Given the description of an element on the screen output the (x, y) to click on. 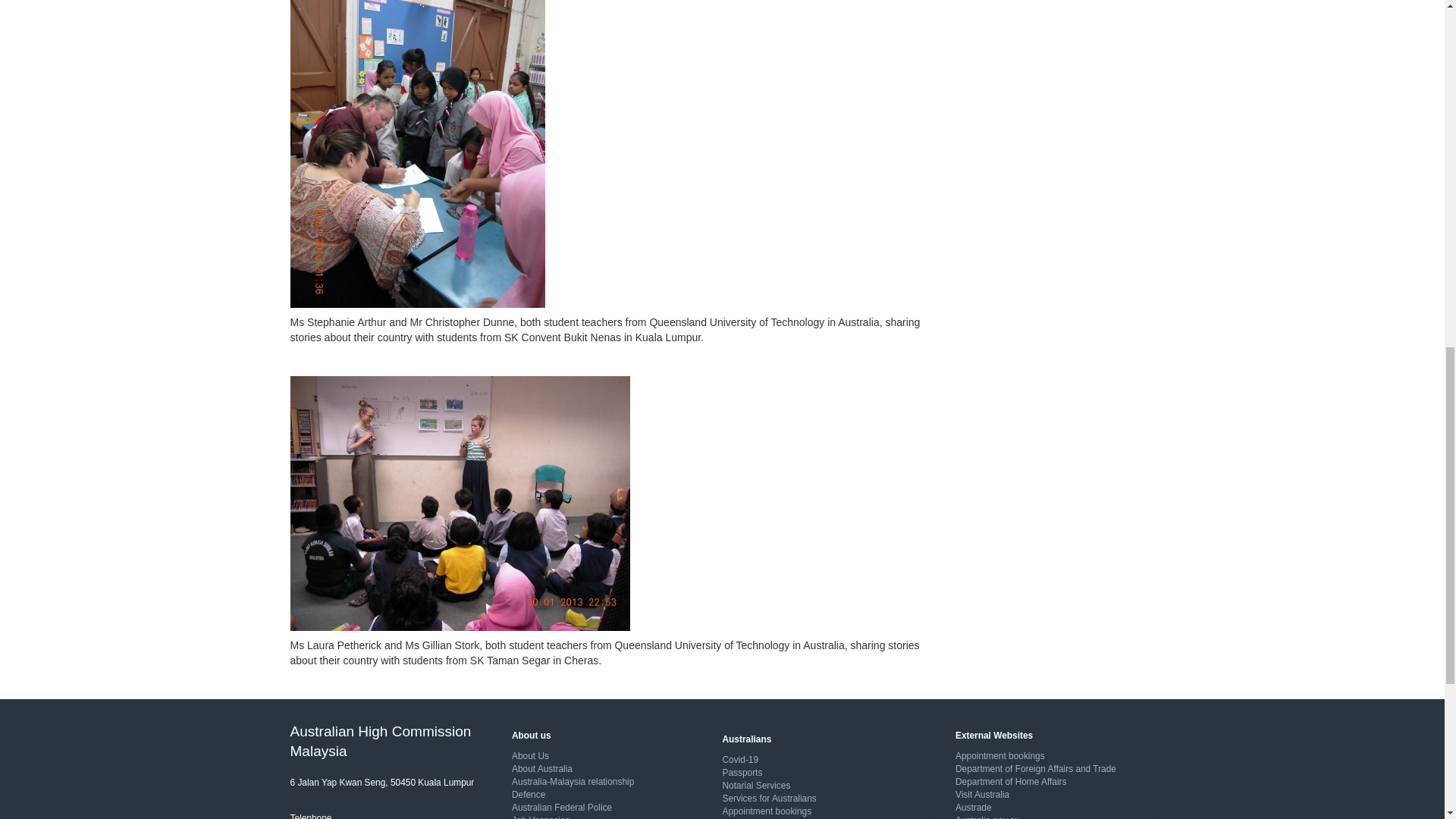
Telephone (310, 816)
